Given the description of an element on the screen output the (x, y) to click on. 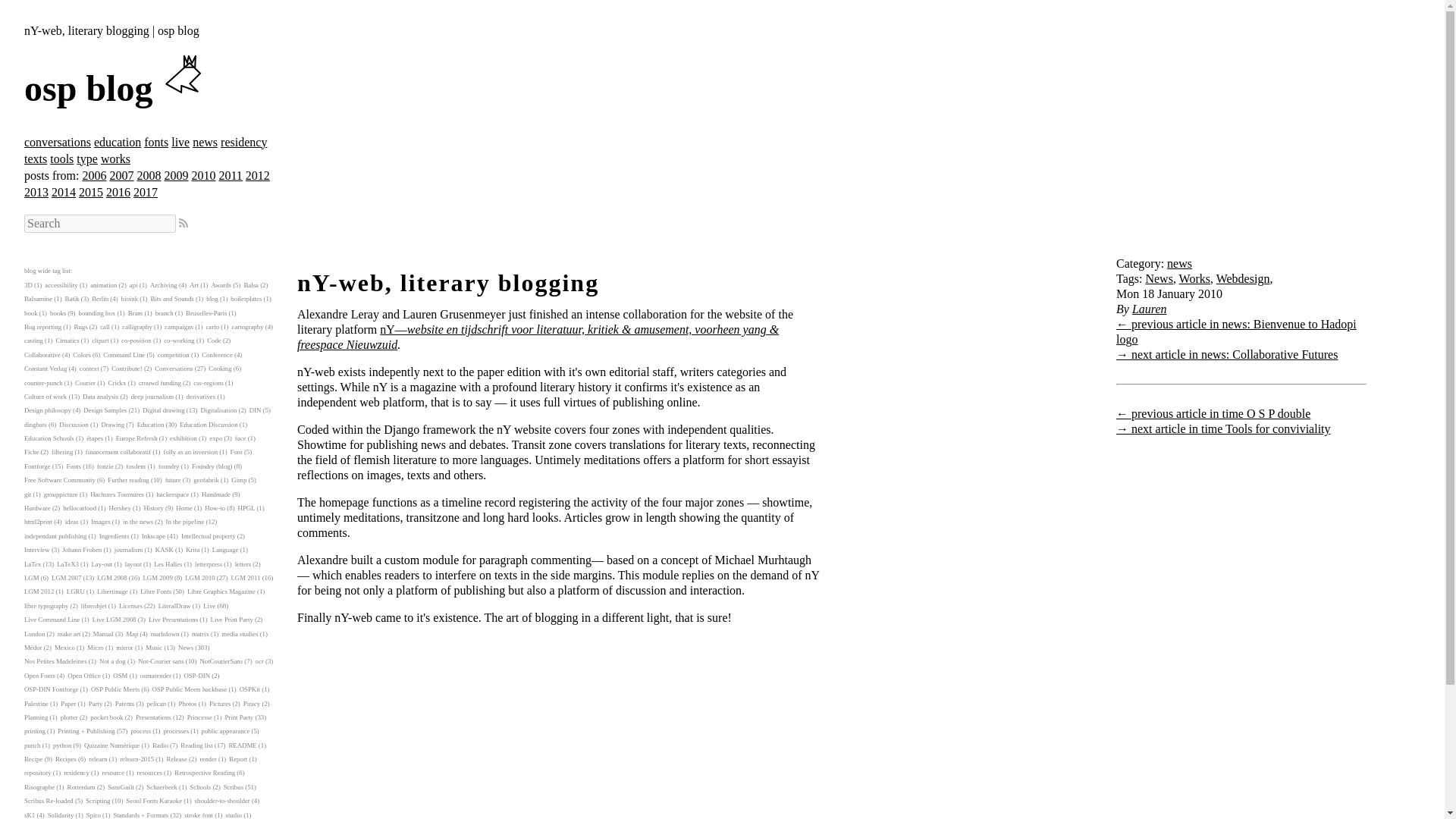
2008 (148, 174)
type (87, 158)
texts (35, 158)
2016 (118, 192)
news (1179, 263)
residency (243, 141)
Works (1194, 278)
2011 (229, 174)
api (133, 285)
News (1158, 278)
2017 (145, 192)
2012 (257, 174)
3D (28, 285)
2010 (202, 174)
Permalink to nY-web, literary blogging (447, 282)
